Given the description of an element on the screen output the (x, y) to click on. 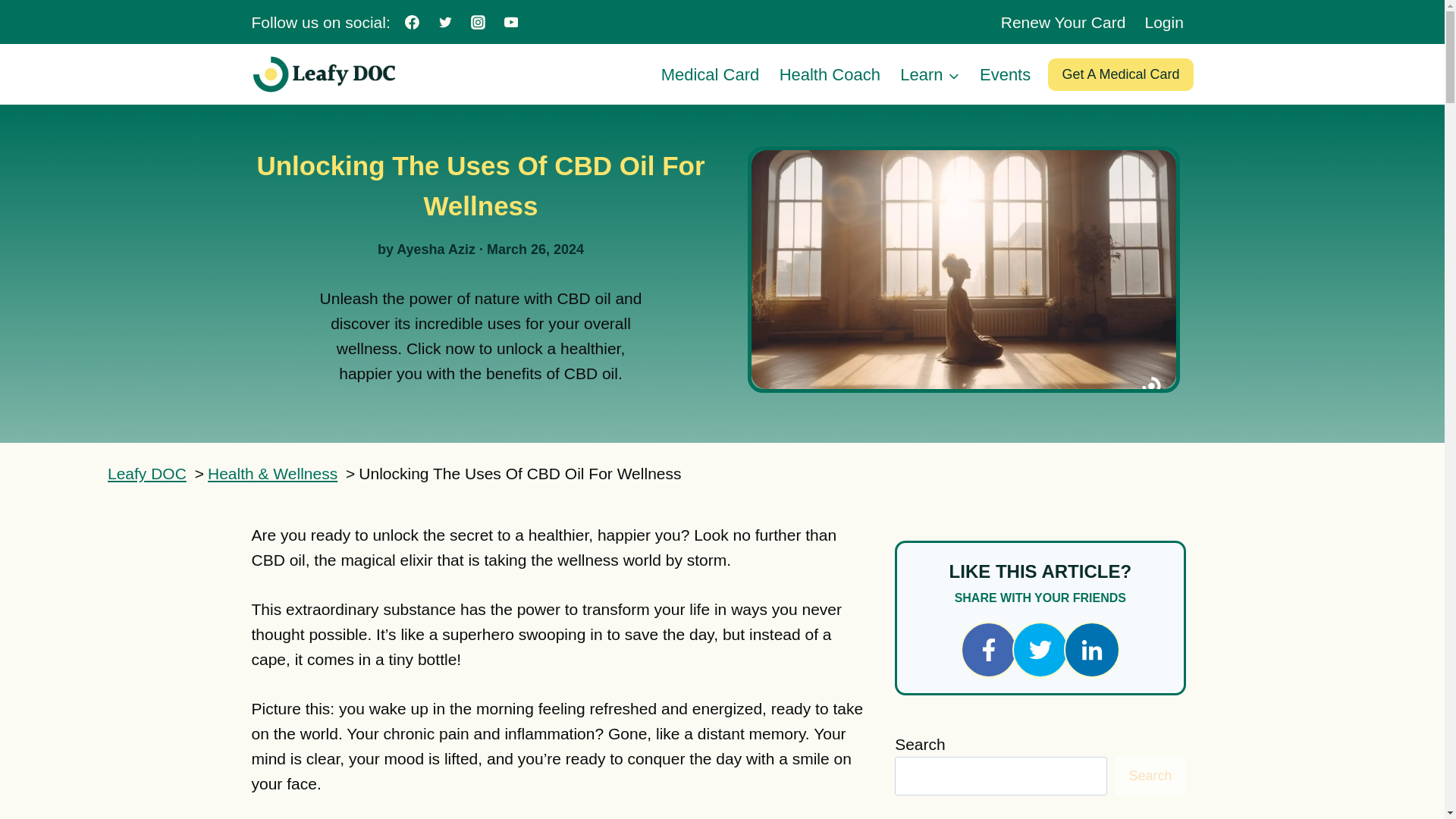
Medical Card (709, 73)
Events (1005, 73)
Health Coach (828, 73)
Get A Medical Card (1120, 74)
Renew Your Card (1063, 22)
Login (1164, 22)
Leafy DOC (146, 473)
Learn (929, 73)
Search (1150, 776)
